Given the description of an element on the screen output the (x, y) to click on. 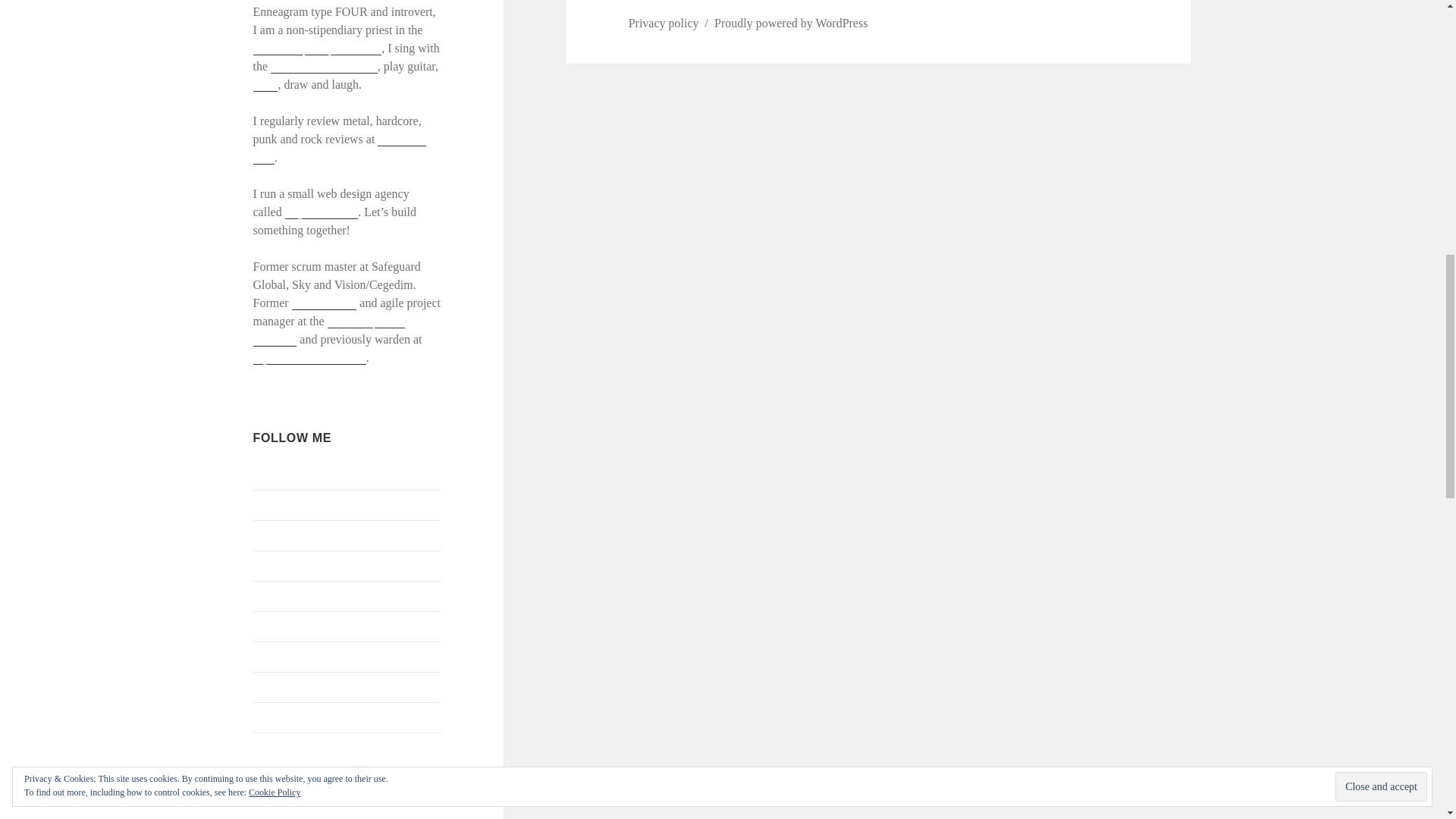
195 metal CDs (339, 148)
Agnes Blackadder Hall (309, 357)
Scottish Episcopal Church (317, 48)
write (265, 84)
Digital Shed45 (321, 212)
GitHub (271, 534)
Facebook (276, 504)
Bluesky (272, 473)
web architect (324, 303)
Scribd (269, 656)
